Given the description of an element on the screen output the (x, y) to click on. 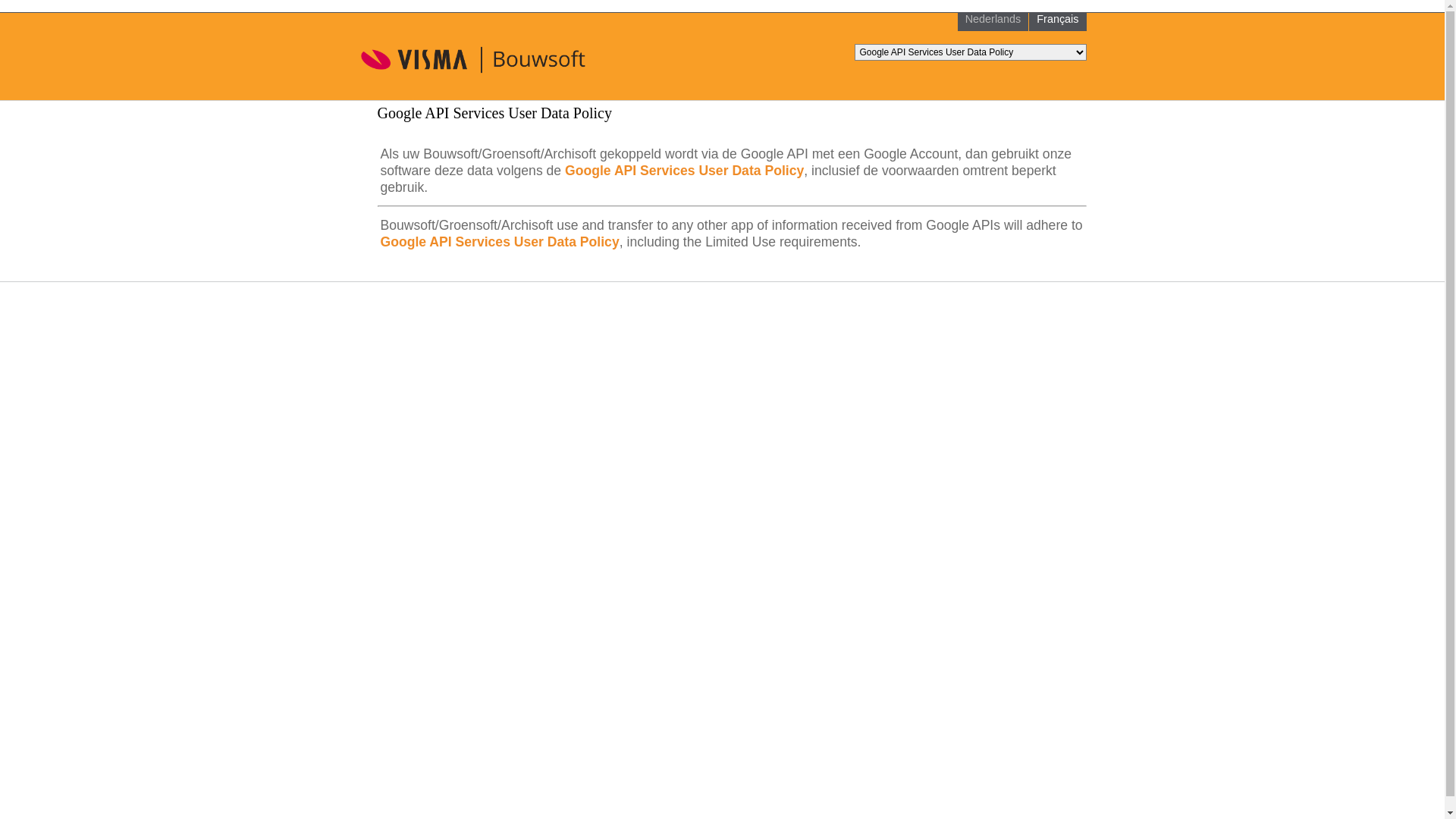
Nederlands Element type: text (993, 18)
Google API Services User Data Policy Element type: text (683, 170)
Google API Services User Data Policy Element type: text (499, 241)
